Given the description of an element on the screen output the (x, y) to click on. 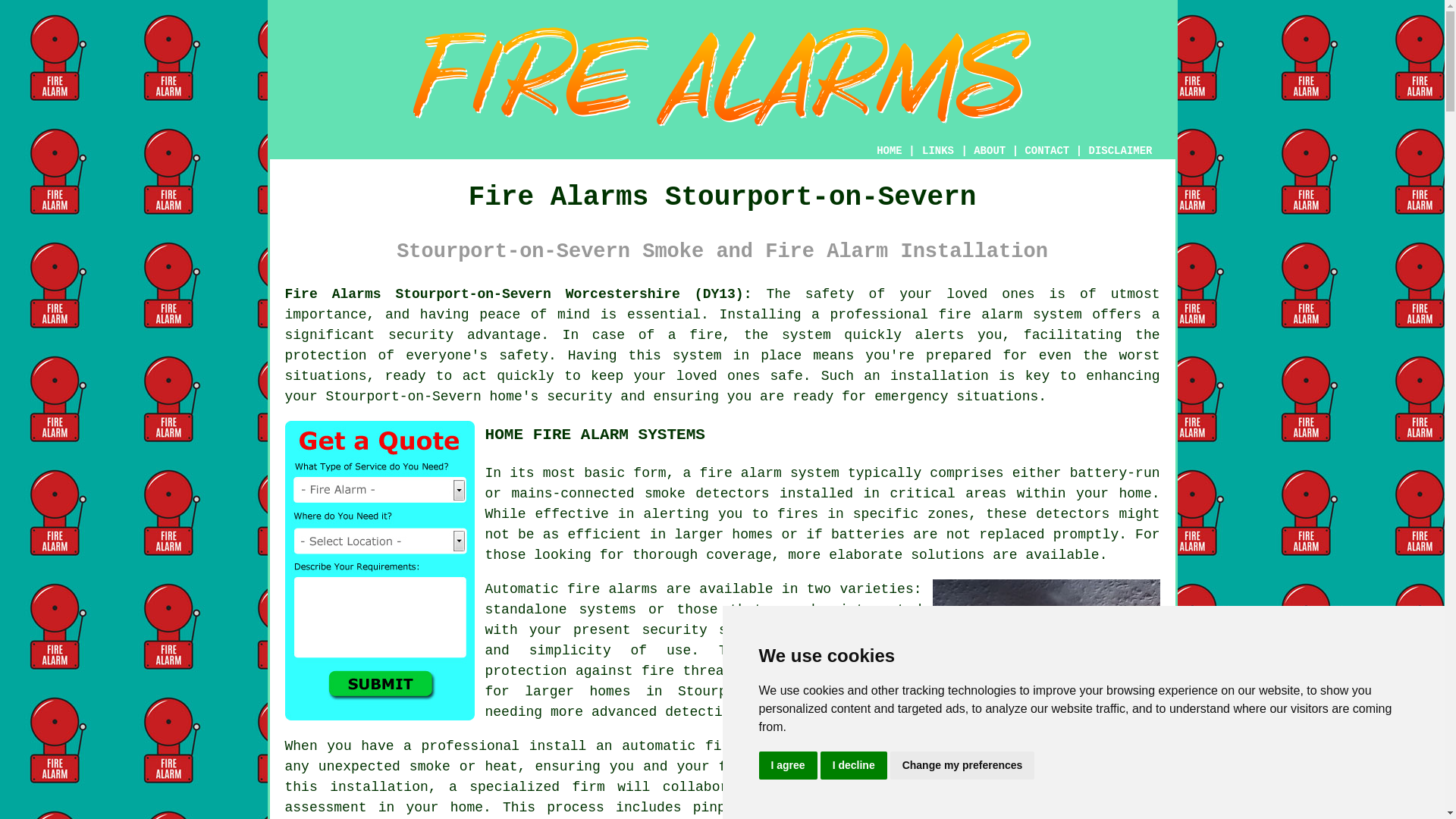
Fire Alarms Stourport-on-Severn (721, 76)
I agree (787, 765)
HOME (889, 150)
fire alarm system (1010, 314)
Change my preferences (962, 765)
LINKS (938, 151)
automatic fire alarm (705, 745)
I decline (853, 765)
